Given the description of an element on the screen output the (x, y) to click on. 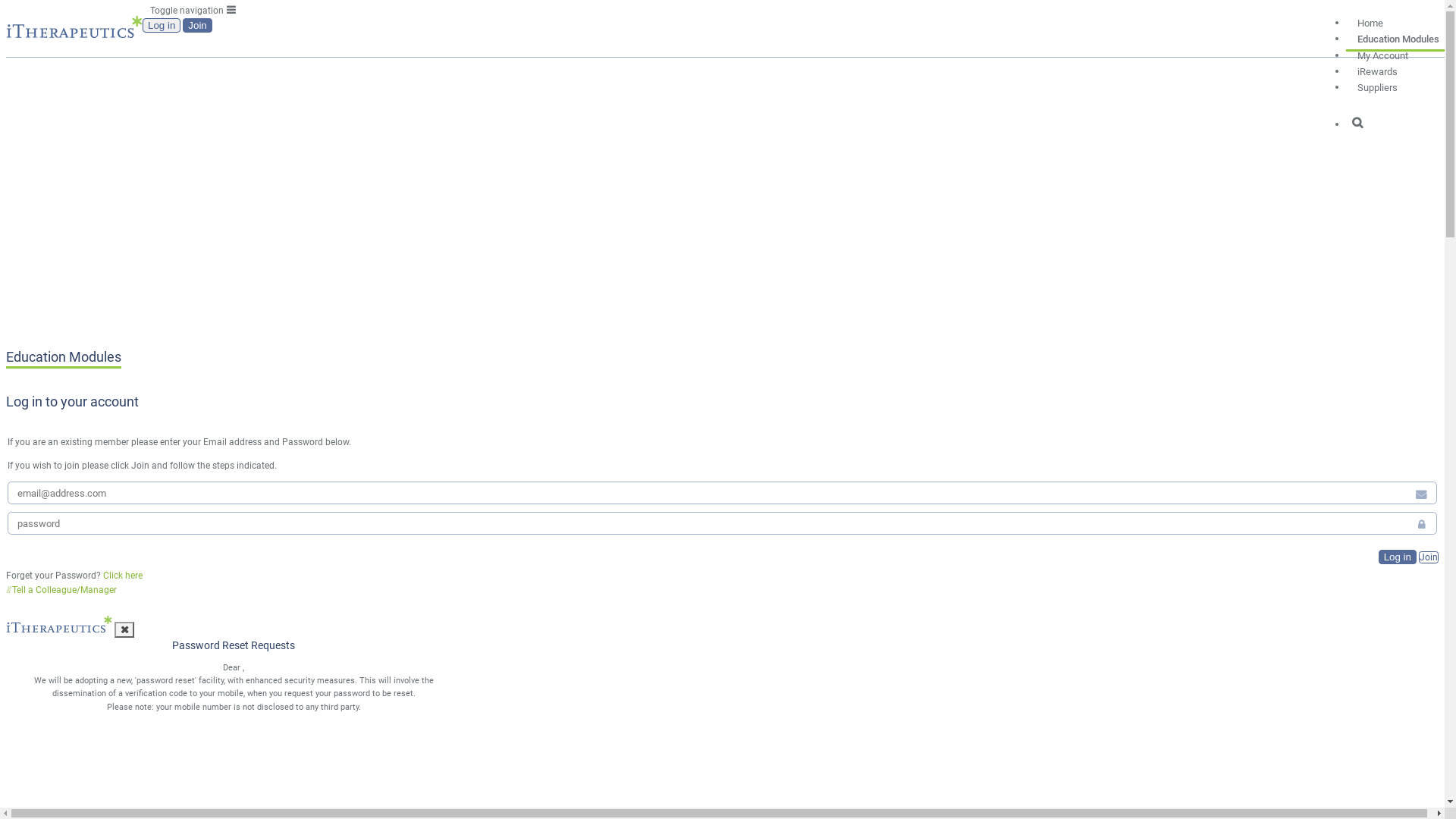
Tell a Colleague/Manager Element type: text (61, 589)
Suppliers Element type: text (1377, 83)
Home Element type: text (1370, 19)
Click here Element type: text (122, 575)
iRewards Element type: text (1377, 67)
Log in Element type: text (1397, 556)
Join Element type: text (1428, 557)
My Account Element type: text (1382, 51)
Join Element type: text (196, 25)
Toggle navigation Element type: text (192, 8)
Education Modules Element type: text (1398, 36)
Log in Element type: text (161, 25)
